Given the description of an element on the screen output the (x, y) to click on. 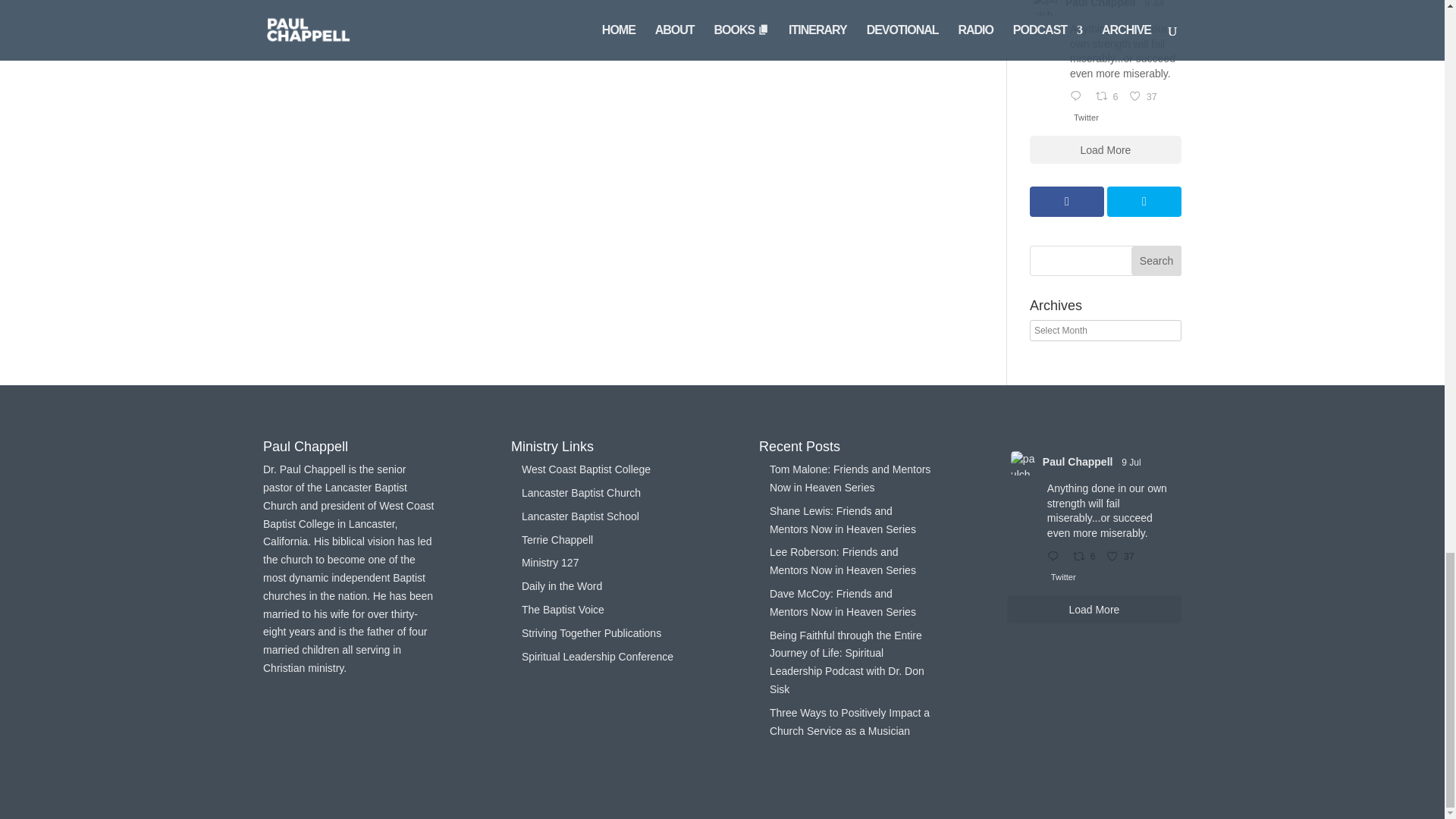
Search (1155, 260)
Paul Chappell (1100, 5)
